Given the description of an element on the screen output the (x, y) to click on. 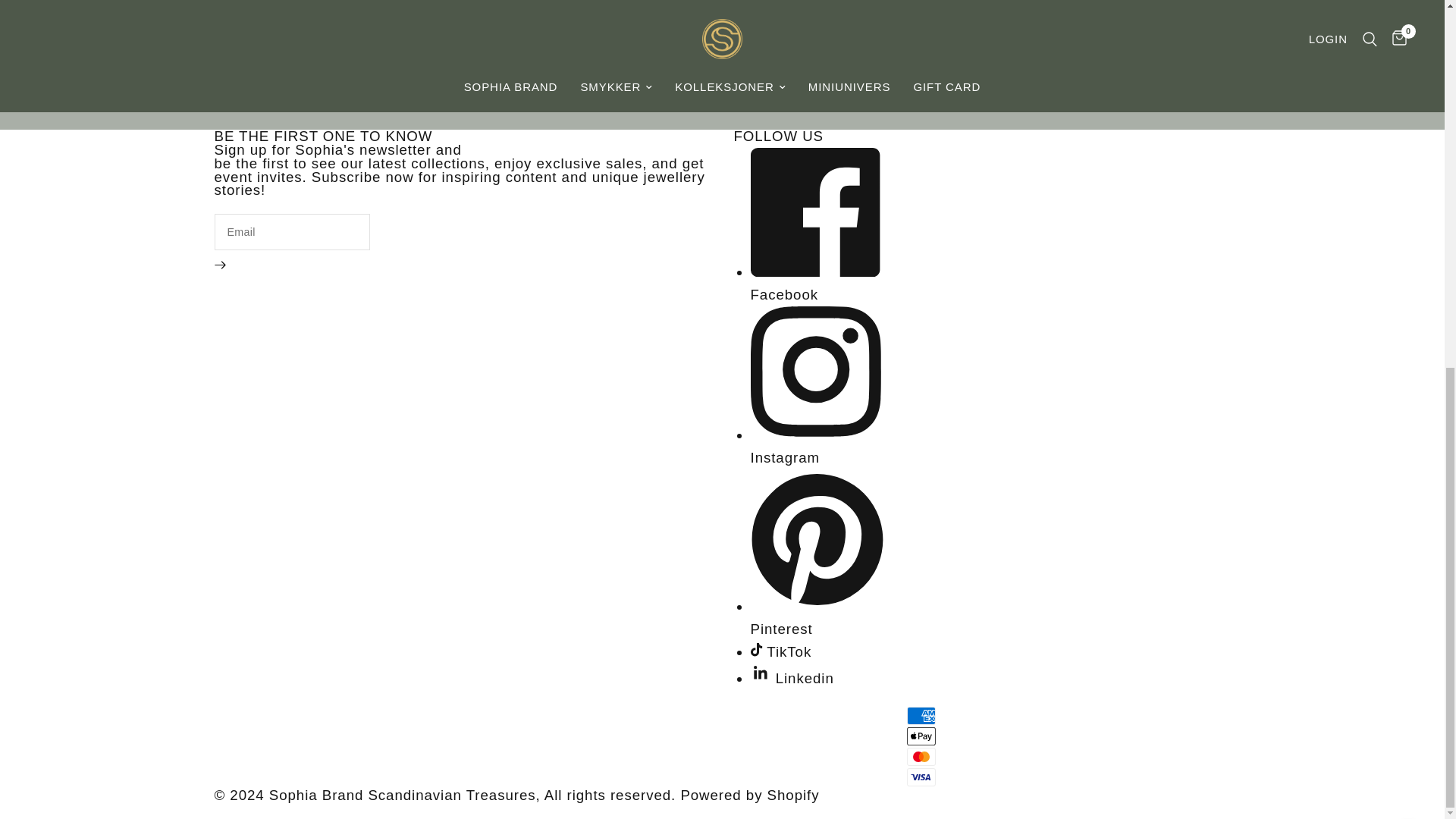
Mastercard (921, 756)
Apple Pay (921, 736)
American Express (921, 715)
Visa (921, 777)
